Given the description of an element on the screen output the (x, y) to click on. 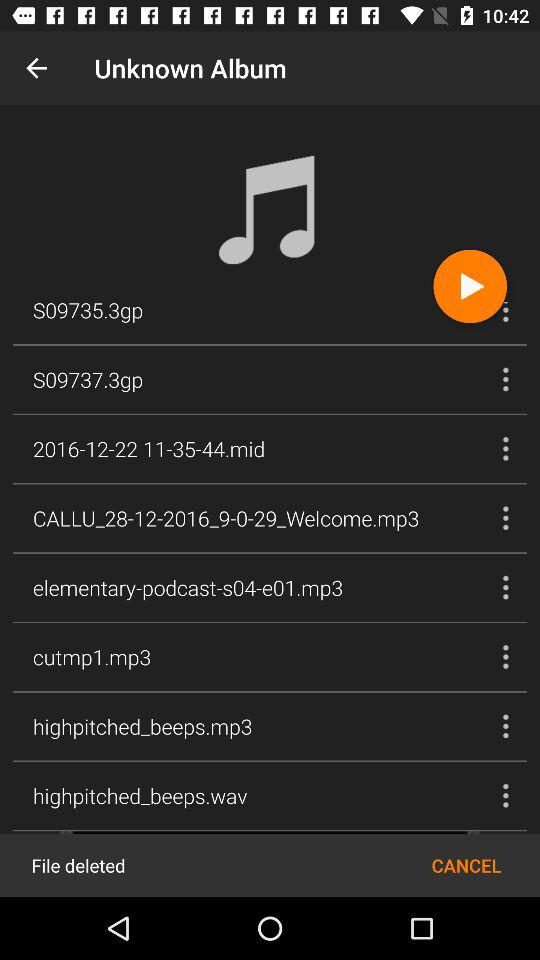
click icon next to file deleted icon (466, 864)
